Given the description of an element on the screen output the (x, y) to click on. 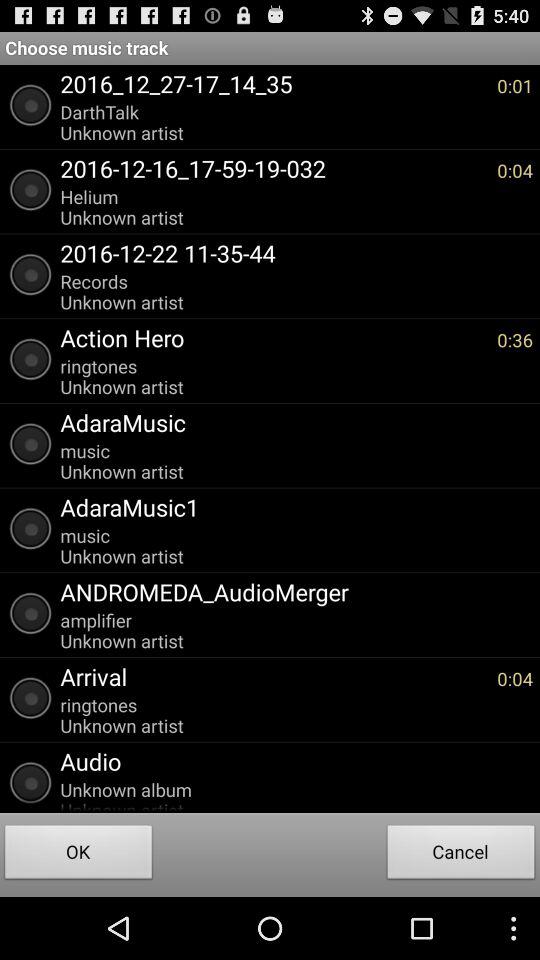
swipe to adaramusic app (291, 422)
